Given the description of an element on the screen output the (x, y) to click on. 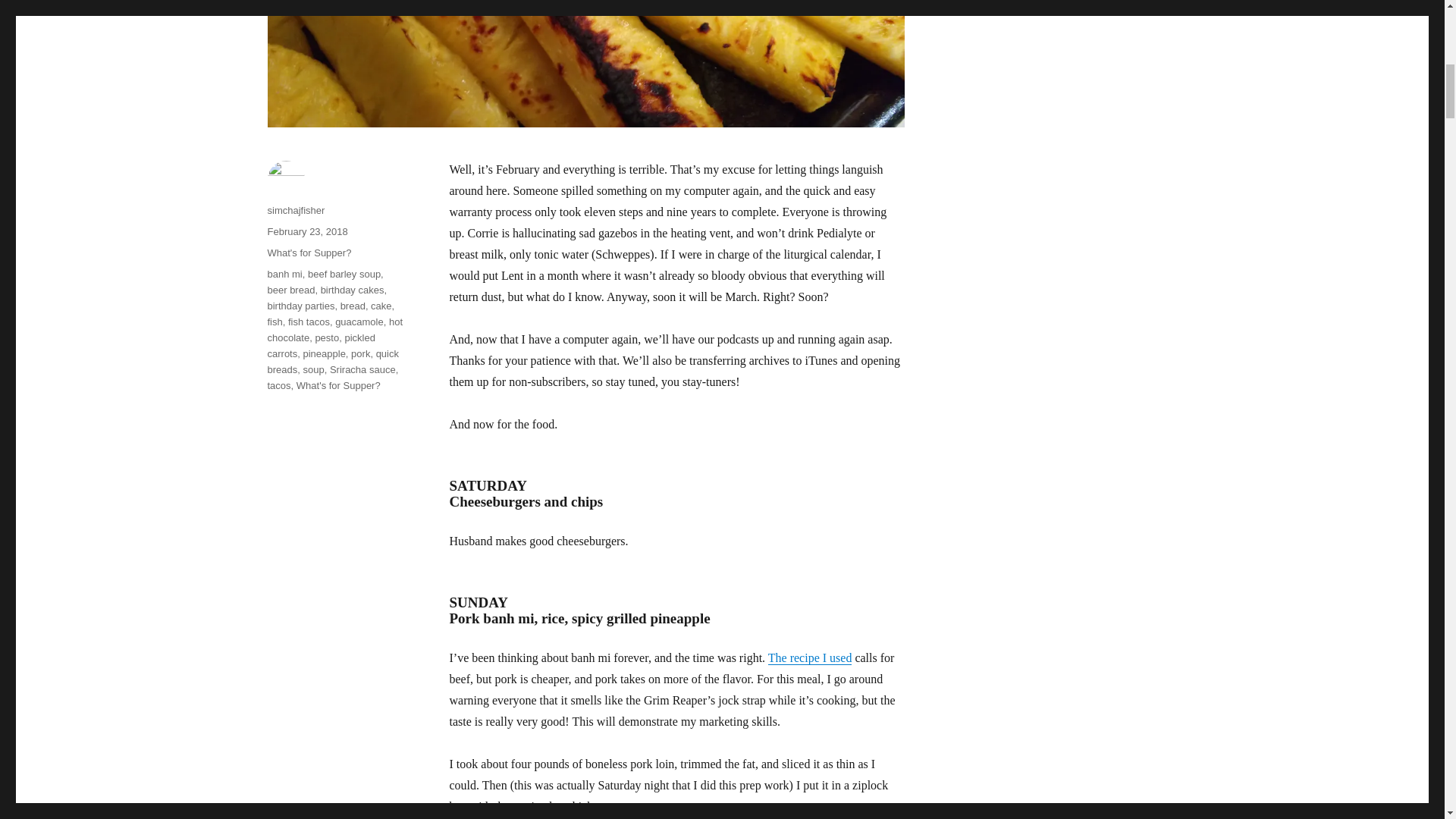
beer bread (290, 289)
simchajfisher (295, 210)
pesto (326, 337)
What's for Supper? (308, 252)
birthday parties (300, 306)
cake (381, 306)
February 23, 2018 (306, 231)
fish (274, 321)
fish tacos (309, 321)
birthday cakes (352, 289)
guacamole (359, 321)
The recipe I used (809, 657)
beef barley soup (343, 274)
banh mi (283, 274)
hot chocolate (334, 329)
